Given the description of an element on the screen output the (x, y) to click on. 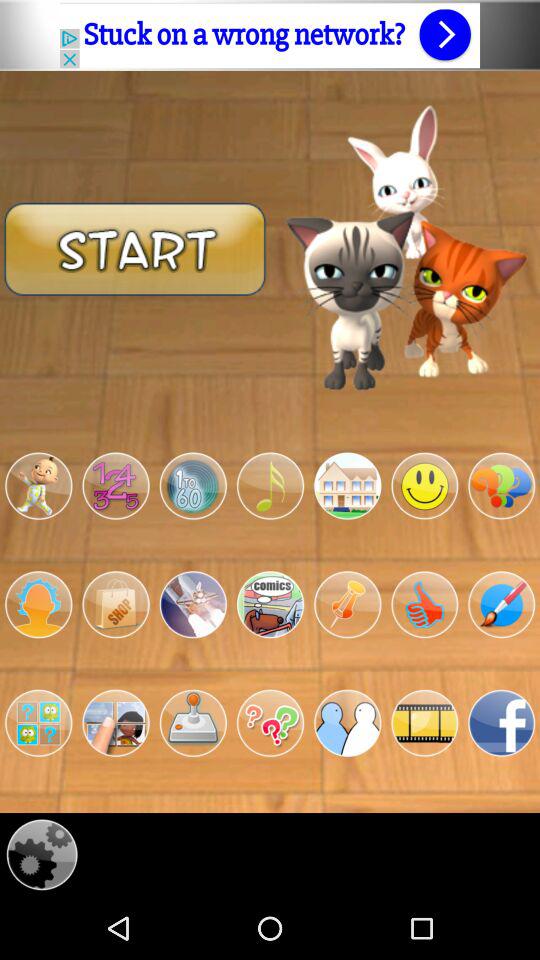
connect facebook (501, 723)
